Given the description of an element on the screen output the (x, y) to click on. 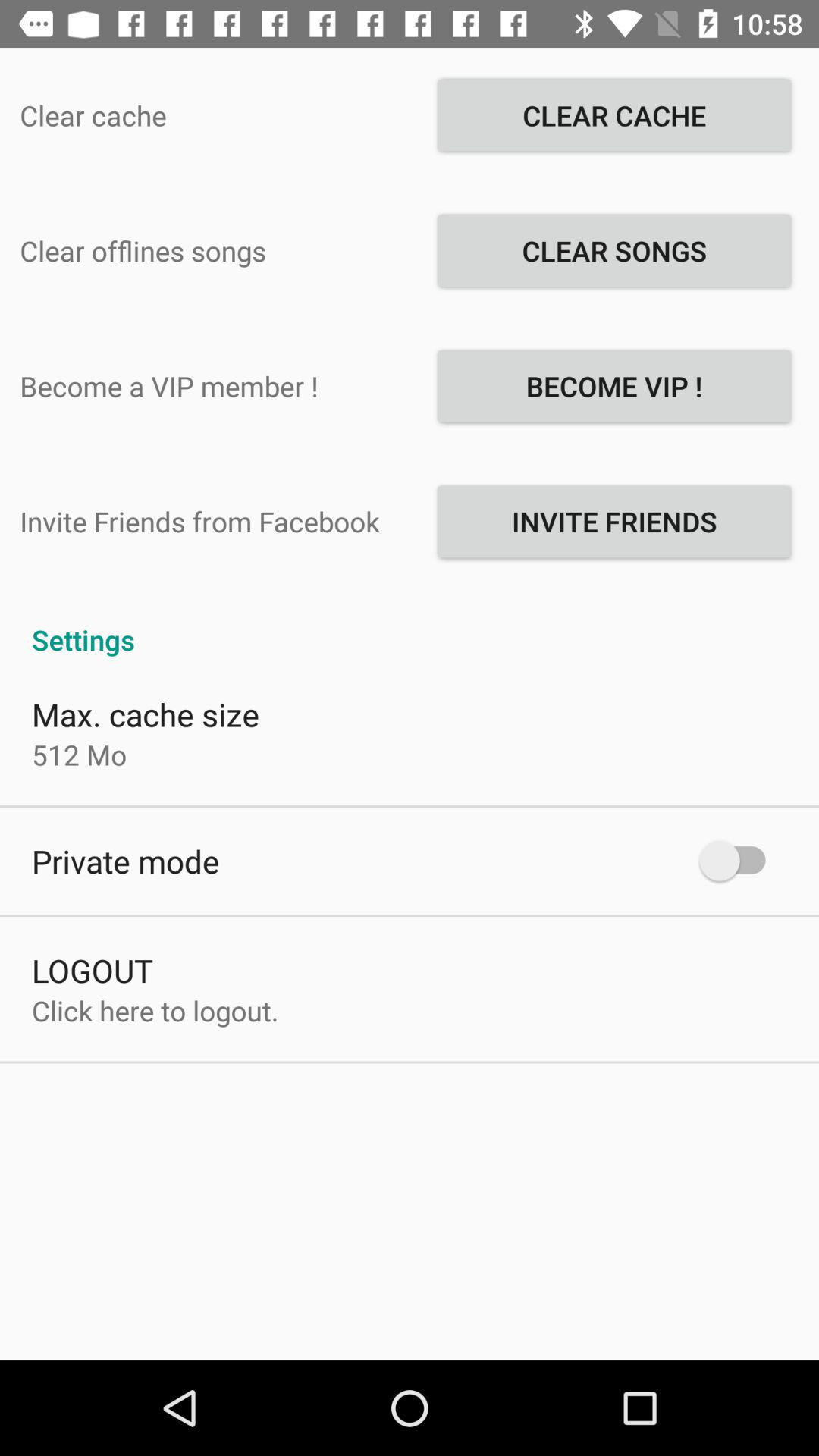
press icon below settings item (739, 860)
